Given the description of an element on the screen output the (x, y) to click on. 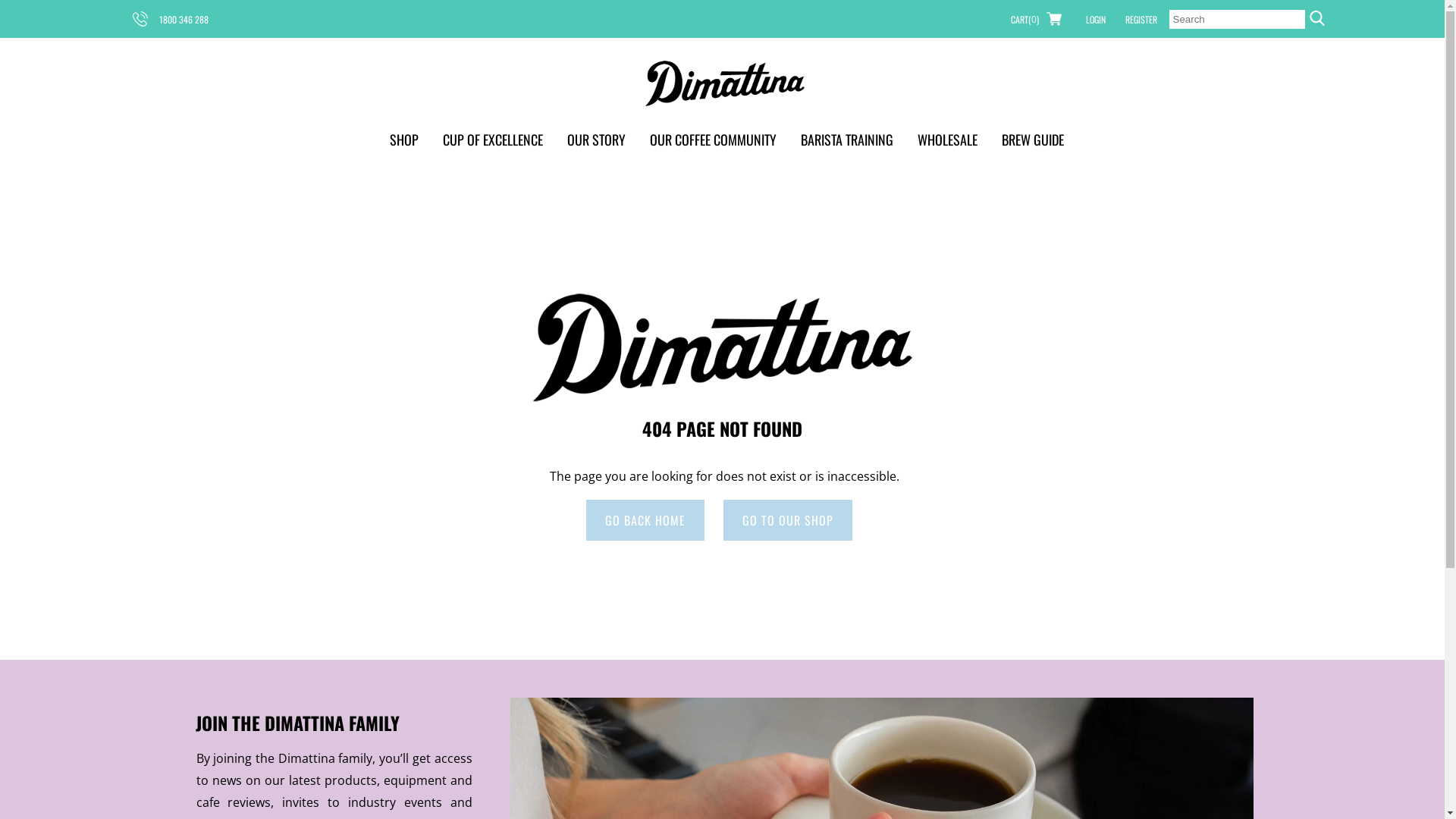
1800 346 288 Element type: text (169, 18)
SHOP Element type: text (404, 139)
REGISTER Element type: text (1140, 19)
CART(
0
) Element type: text (1035, 18)
OUR STORY Element type: text (596, 139)
LOGIN Element type: text (1095, 19)
WHOLESALE Element type: text (947, 139)
GO TO OUR SHOP Element type: text (787, 519)
CUP OF EXCELLENCE Element type: text (492, 139)
OUR COFFEE COMMUNITY Element type: text (713, 139)
BARISTA TRAINING Element type: text (846, 139)
GO BACK HOME Element type: text (644, 519)
BREW GUIDE Element type: text (1032, 139)
